Given the description of an element on the screen output the (x, y) to click on. 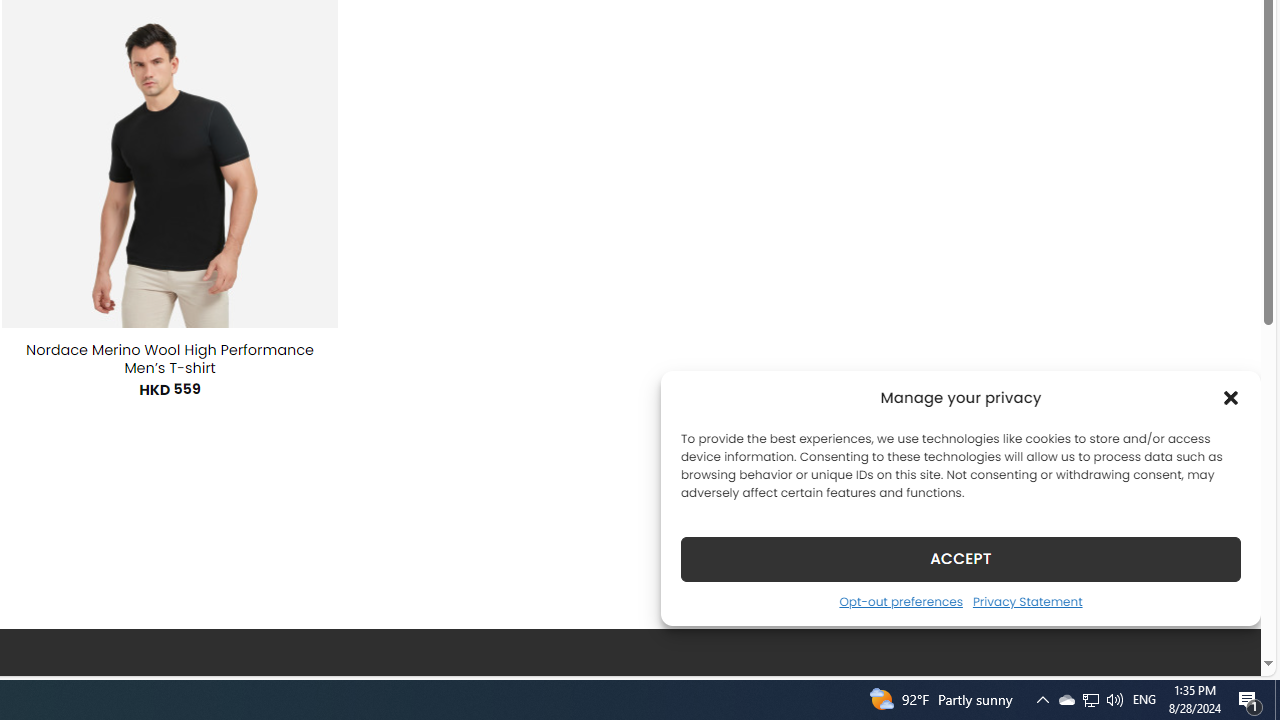
Go to top (1220, 647)
Privacy Statement (1026, 601)
ACCEPT (960, 558)
Class: cmplz-close (1231, 397)
Opt-out preferences (900, 601)
